Given the description of an element on the screen output the (x, y) to click on. 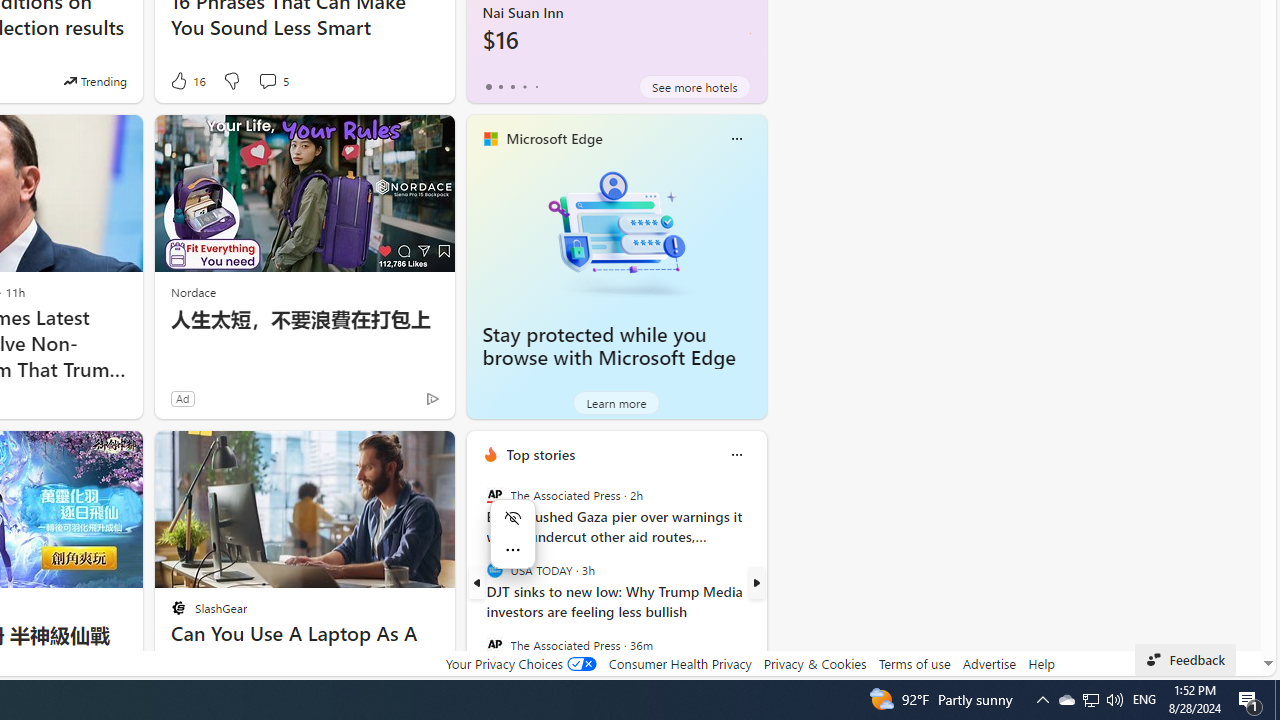
Advertise (989, 663)
More actions (513, 549)
See more hotels (694, 86)
Consumer Health Privacy (680, 663)
Mini menu on text selection (513, 533)
Hide menu (513, 517)
Class: icon-img (736, 454)
Stay protected while you browse with Microsoft Edge (616, 232)
tab-3 (524, 86)
Top stories (540, 454)
View comments 5 Comment (267, 80)
